Given the description of an element on the screen output the (x, y) to click on. 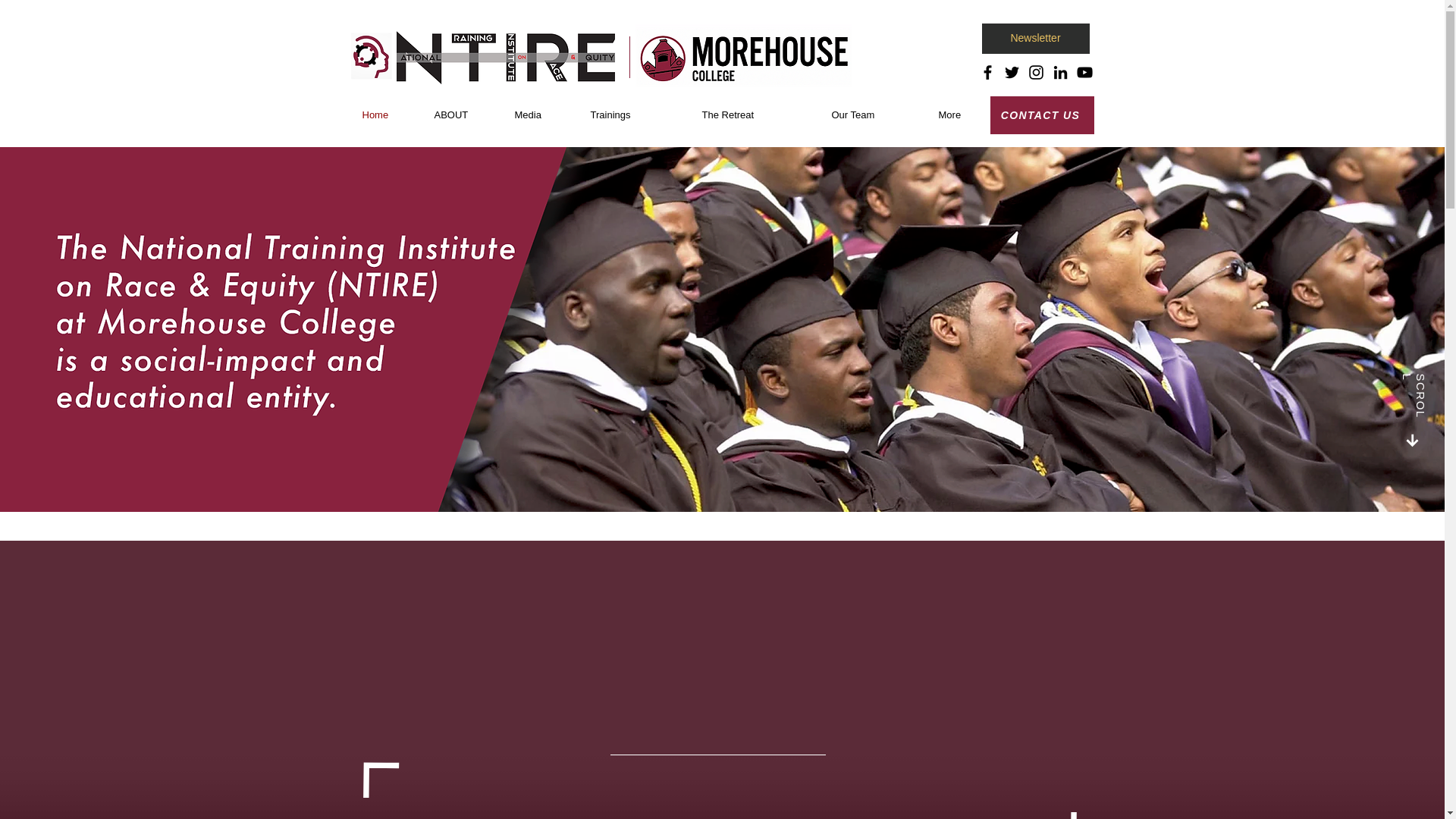
ABOUT (463, 115)
Our Team (874, 115)
CONTACT US (1042, 115)
Media (541, 115)
Newsletter (1035, 38)
Home (386, 115)
Trainings (634, 115)
The Retreat (754, 115)
